Given the description of an element on the screen output the (x, y) to click on. 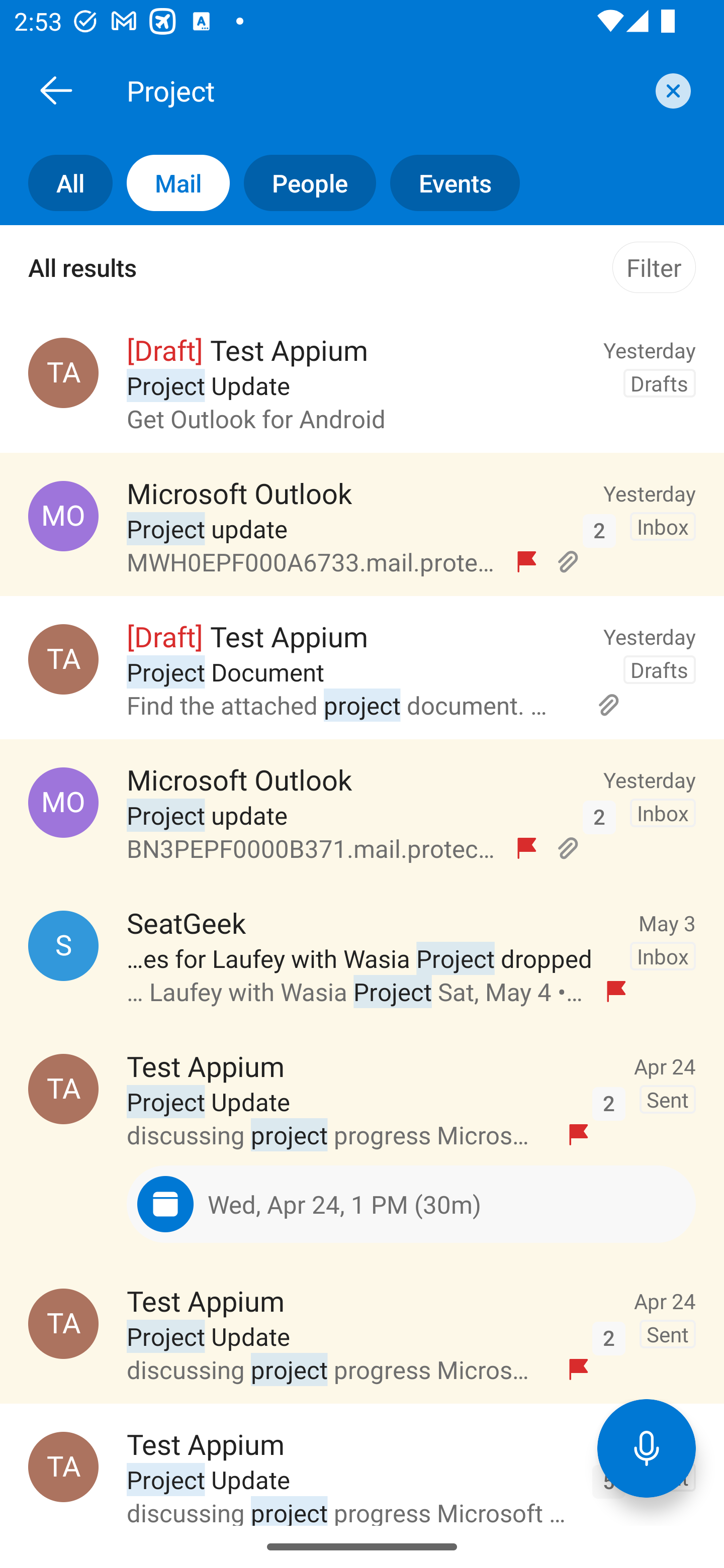
Back (55, 89)
Project (384, 89)
clear search (670, 90)
All (56, 183)
People (302, 183)
Events (447, 183)
Filter (653, 267)
Voice Assistant (646, 1447)
